Given the description of an element on the screen output the (x, y) to click on. 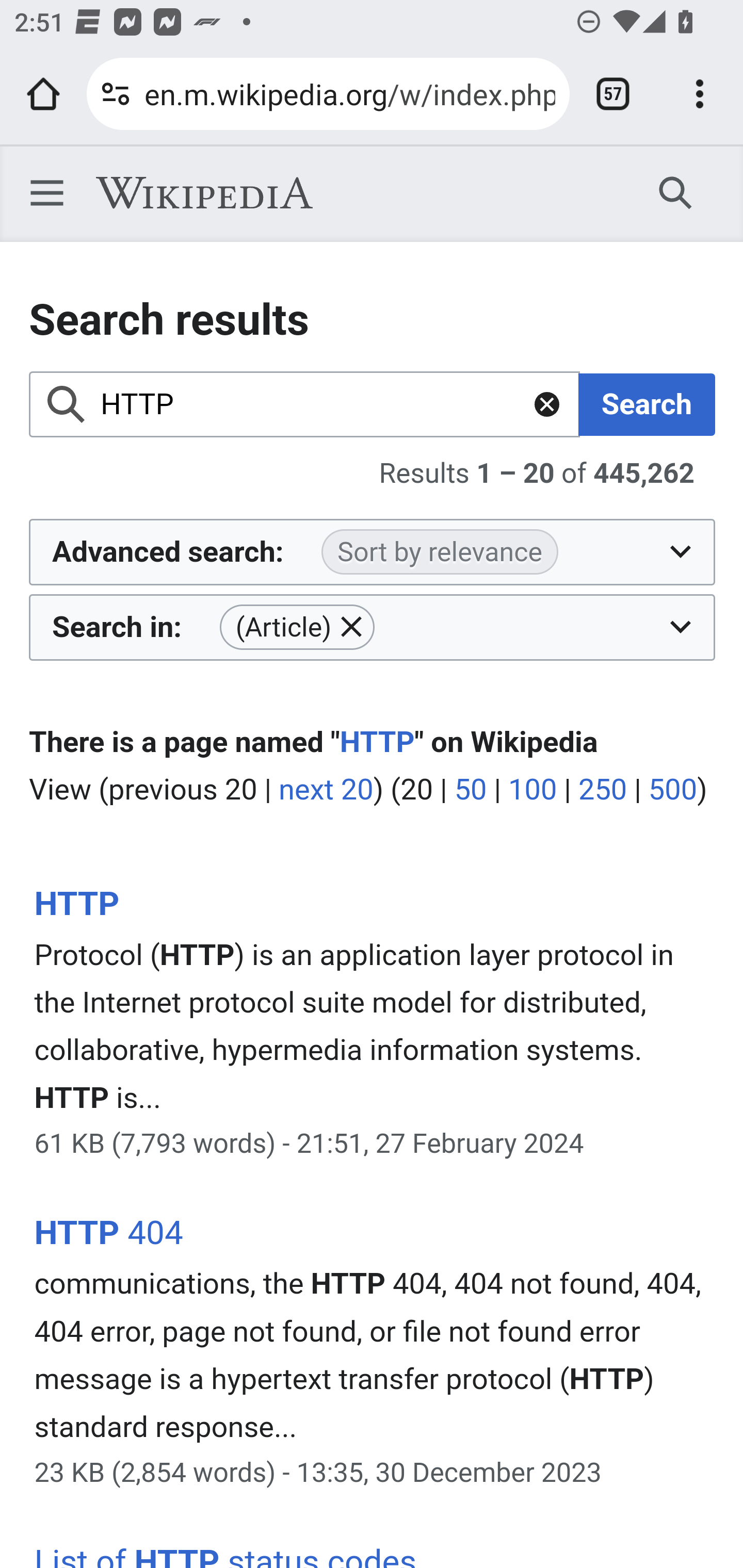
Open the home page (43, 93)
Connection is secure (115, 93)
Switch or close tabs (612, 93)
Customize and control Google Chrome (699, 93)
Search (676, 192)
Wikipedia (203, 192)
HTTP (304, 404)
Search (647, 404)
Advanced search: Sort by relevance (372, 551)
Search in: (Article) Remove (372, 626)
HTTP (377, 742)
next 20 (325, 791)
50 (470, 791)
100 (532, 791)
250 (603, 791)
500 (672, 791)
HTTP (76, 903)
HTTP 404 HTTP  404 (108, 1232)
